Given the description of an element on the screen output the (x, y) to click on. 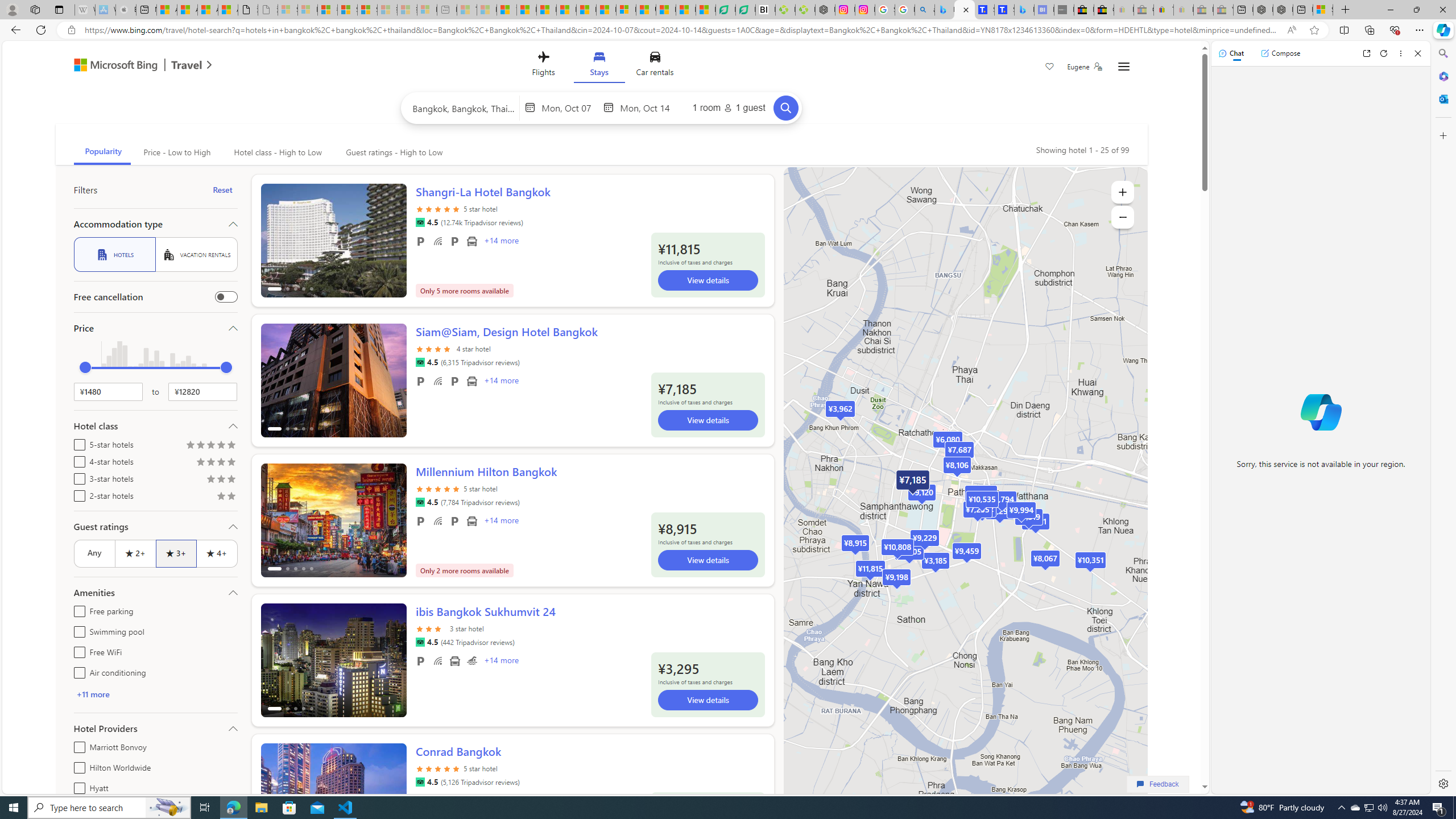
Popularity (101, 152)
Yard, Garden & Outdoor Living - Sleeping (1222, 9)
Class: msft-bing-logo msft-bing-logo-desktop (112, 64)
+14 More Amenities (500, 661)
Rating (231, 496)
Class: msft-travel-logo (186, 64)
Hotel class - High to Low (277, 152)
Nvidia va a poner a prueba la paciencia de los inversores (765, 9)
End date (647, 107)
2-star hotels (76, 493)
